Given the description of an element on the screen output the (x, y) to click on. 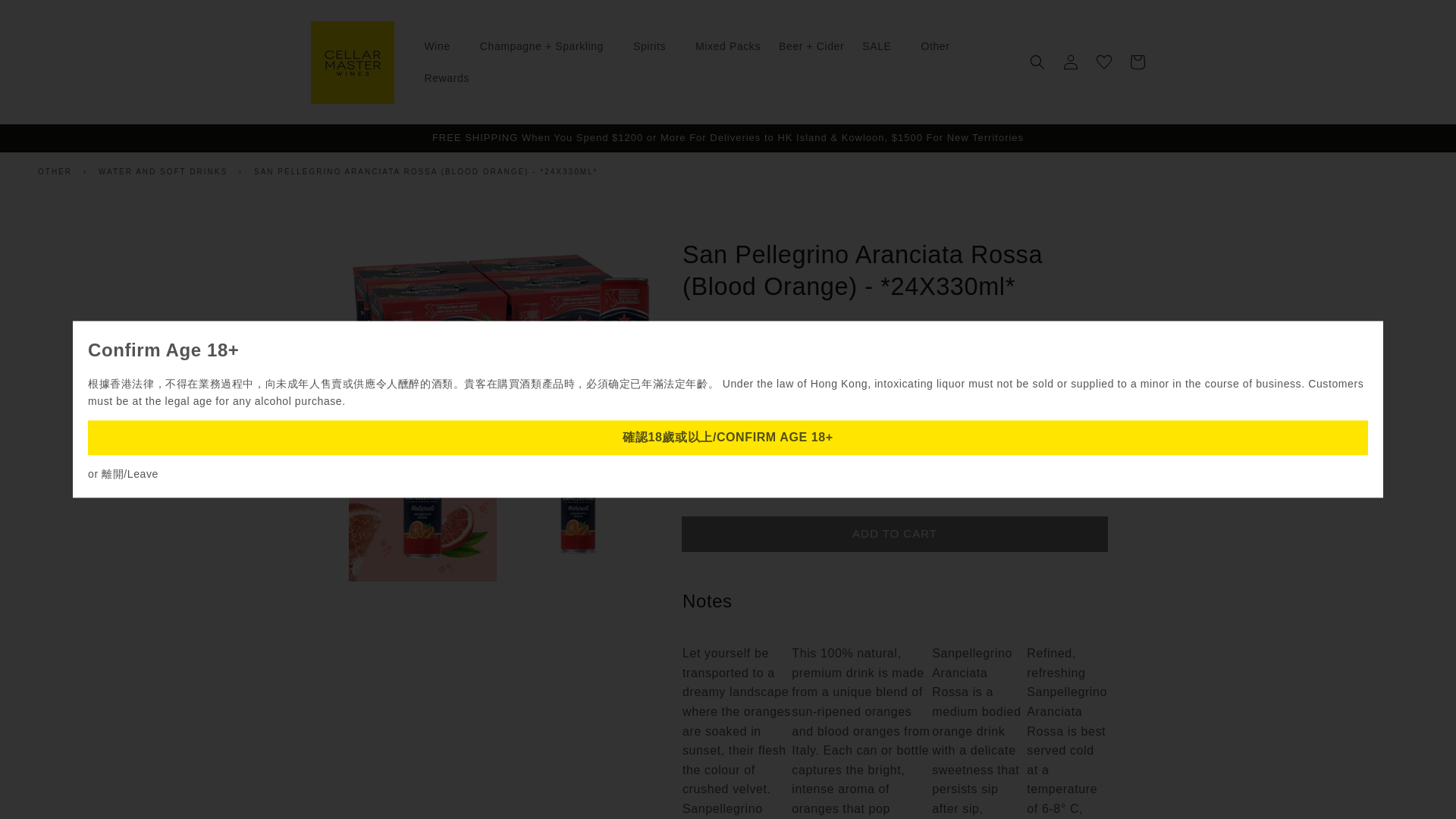
Water and Soft Drinks (162, 171)
1 (735, 446)
Skip to content (45, 16)
Other (56, 171)
